Given the description of an element on the screen output the (x, y) to click on. 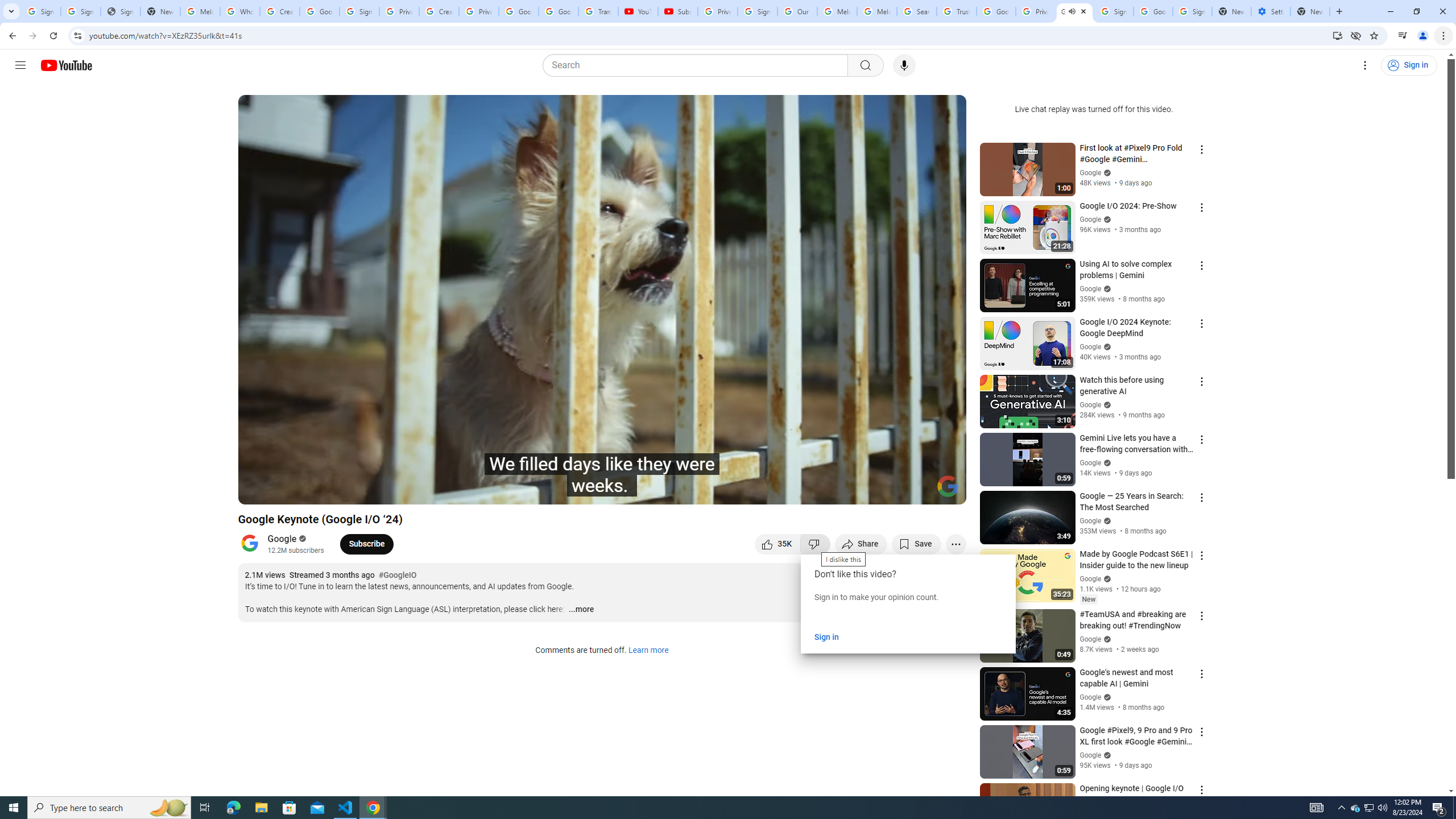
New (1087, 599)
Opening Film (408, 490)
YouTube Home (66, 65)
like this video along with 35,367 other people (777, 543)
Sign In - USA TODAY (120, 11)
Subtitles/closed captions unavailable (836, 490)
#GoogleIO (397, 575)
